Given the description of an element on the screen output the (x, y) to click on. 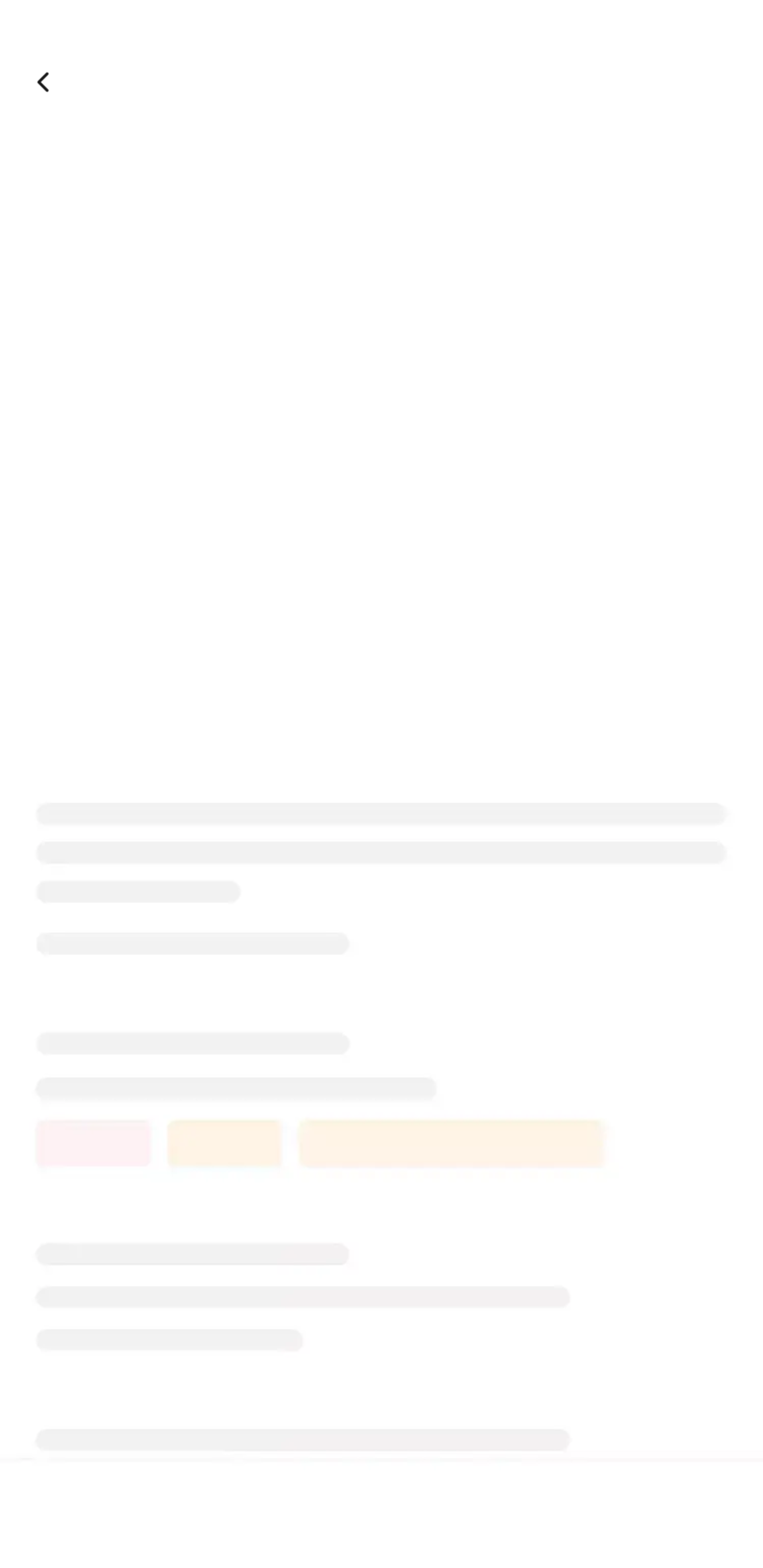
Navigate up (44, 82)
